Given the description of an element on the screen output the (x, y) to click on. 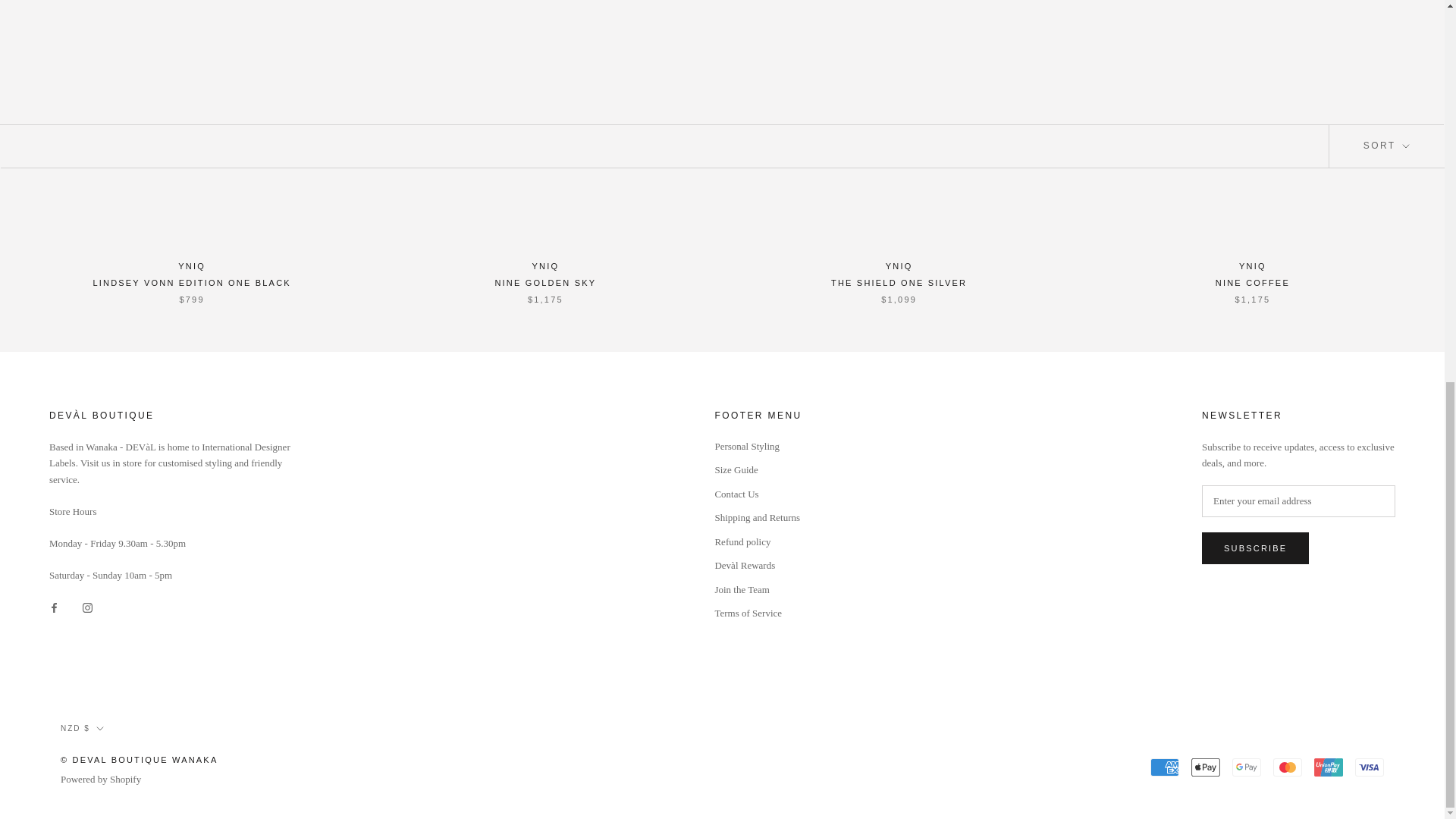
Union Pay (1328, 766)
Google Pay (1245, 766)
Visa (1369, 766)
Mastercard (1286, 766)
Apple Pay (1205, 766)
American Express (1164, 766)
